Given the description of an element on the screen output the (x, y) to click on. 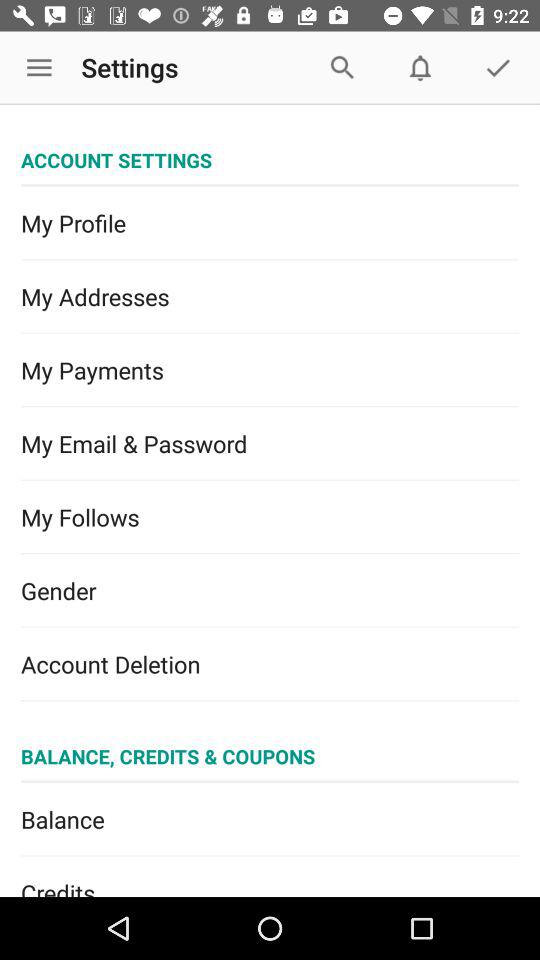
tap the icon below my follows icon (270, 590)
